Given the description of an element on the screen output the (x, y) to click on. 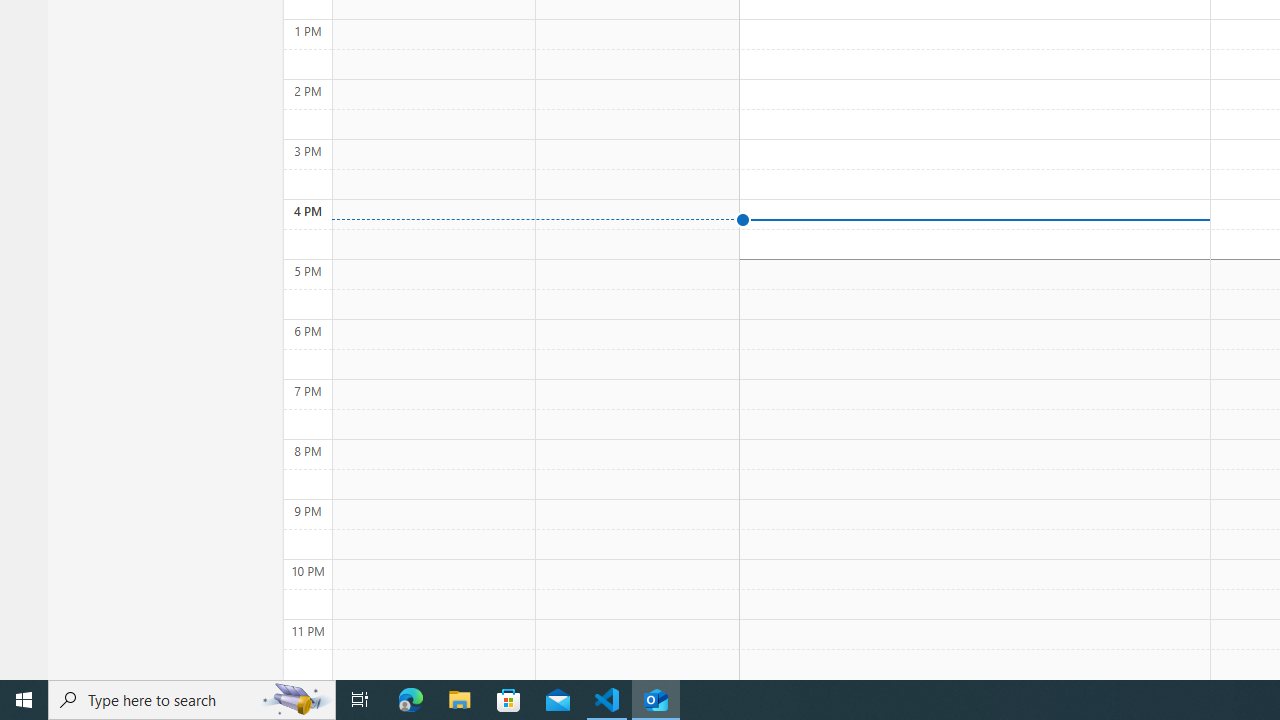
Outlook (new) - 1 running window (656, 699)
